Given the description of an element on the screen output the (x, y) to click on. 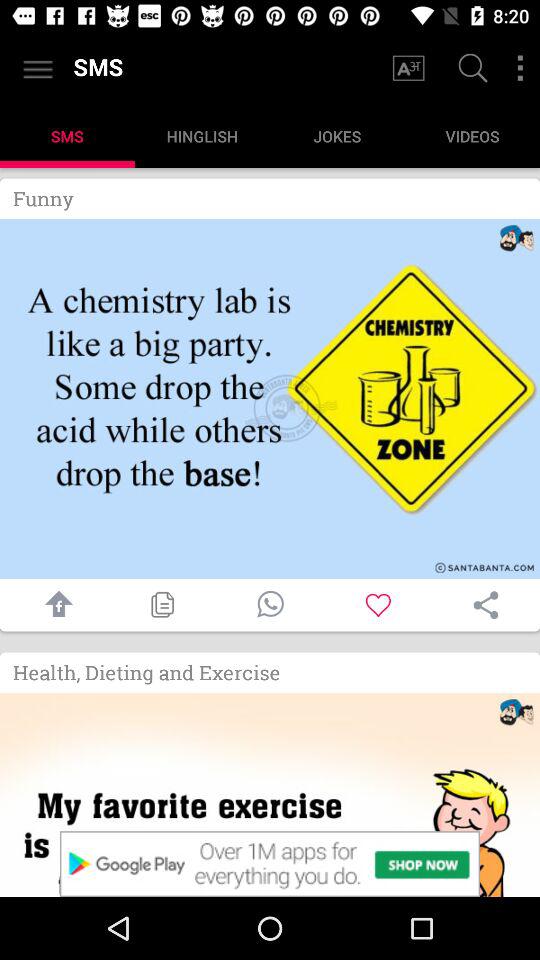
open options (520, 67)
